Given the description of an element on the screen output the (x, y) to click on. 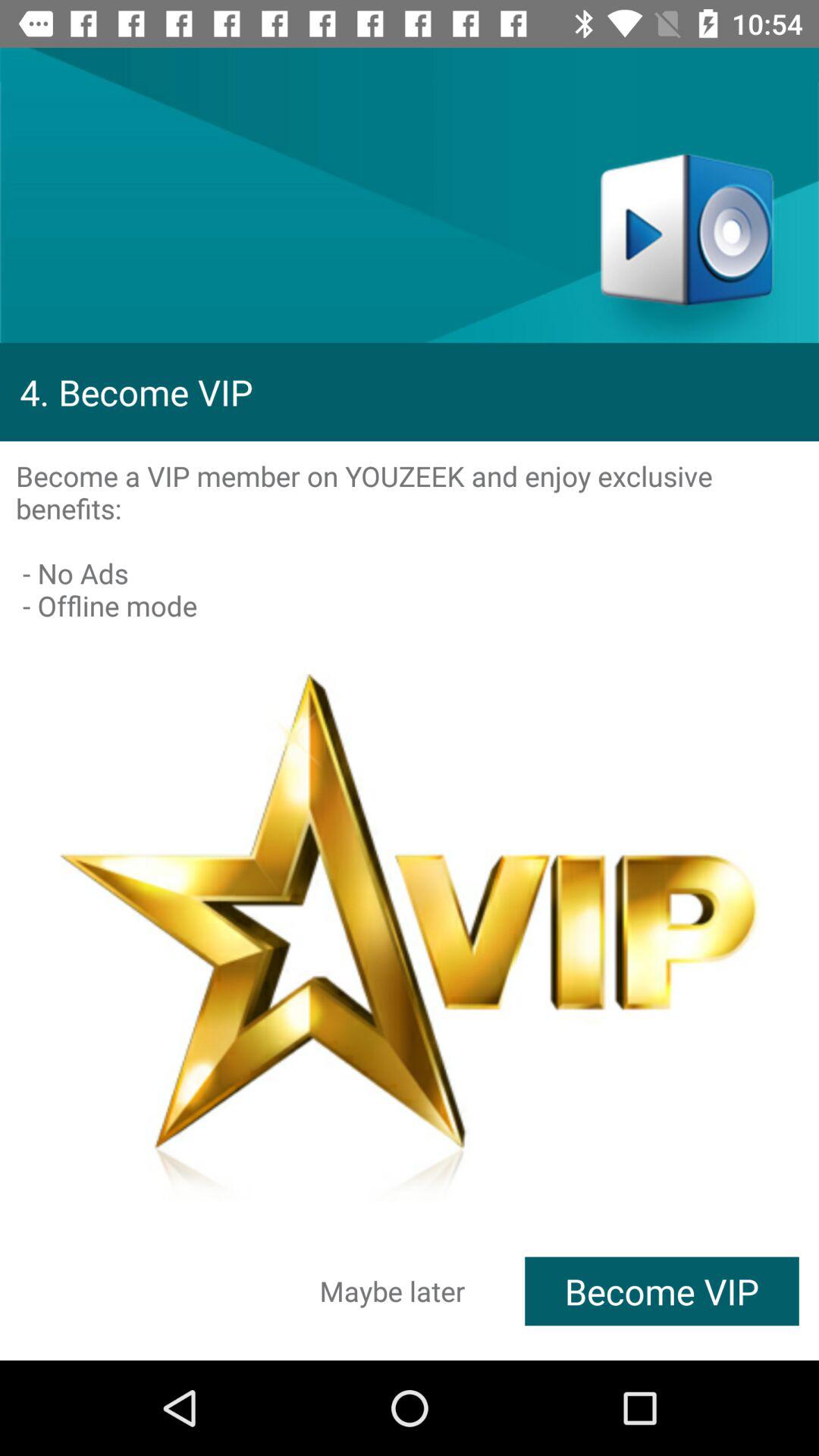
jump until the maybe later icon (392, 1291)
